Given the description of an element on the screen output the (x, y) to click on. 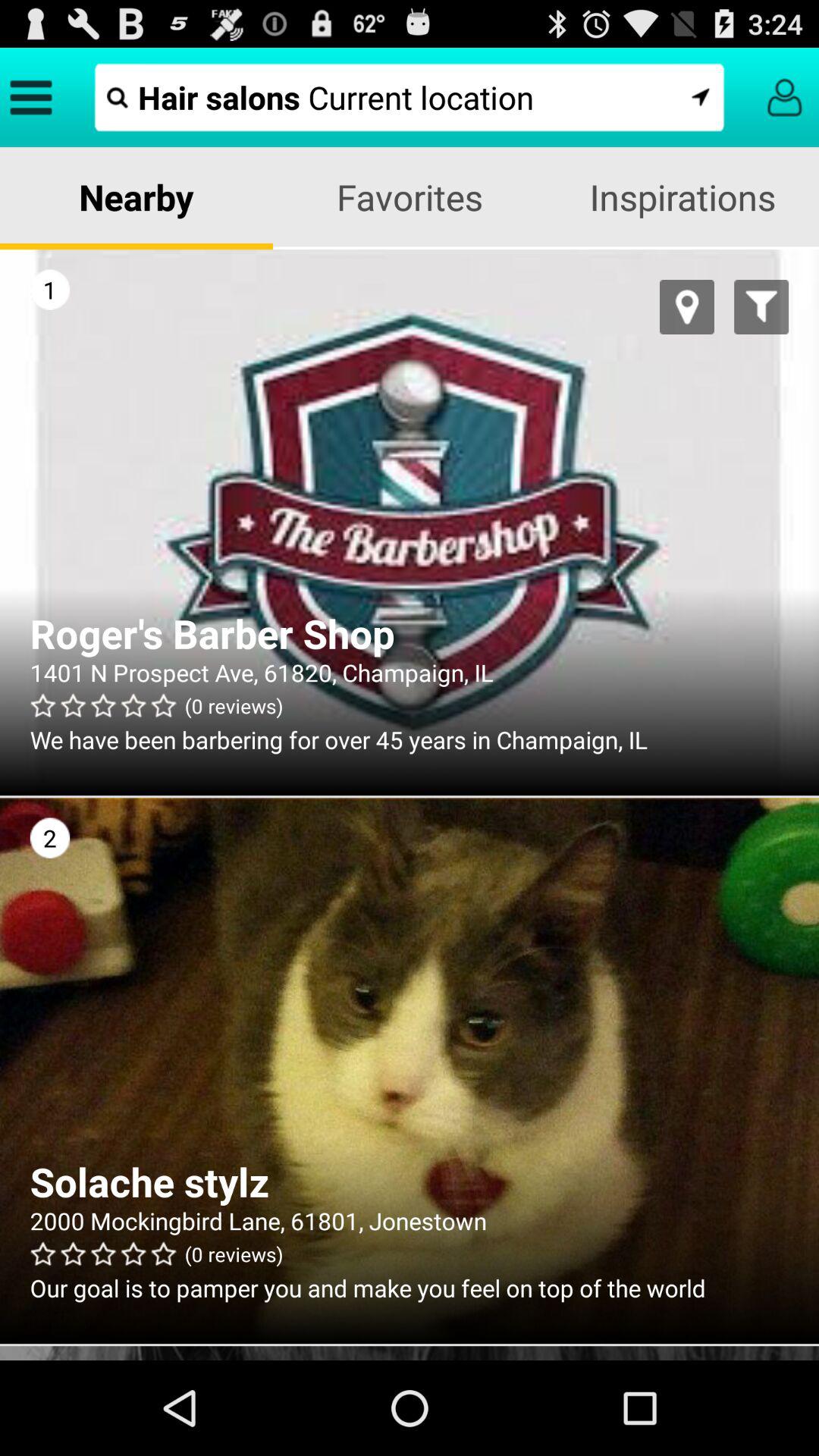
open icon to the left of favorites (136, 196)
